Given the description of an element on the screen output the (x, y) to click on. 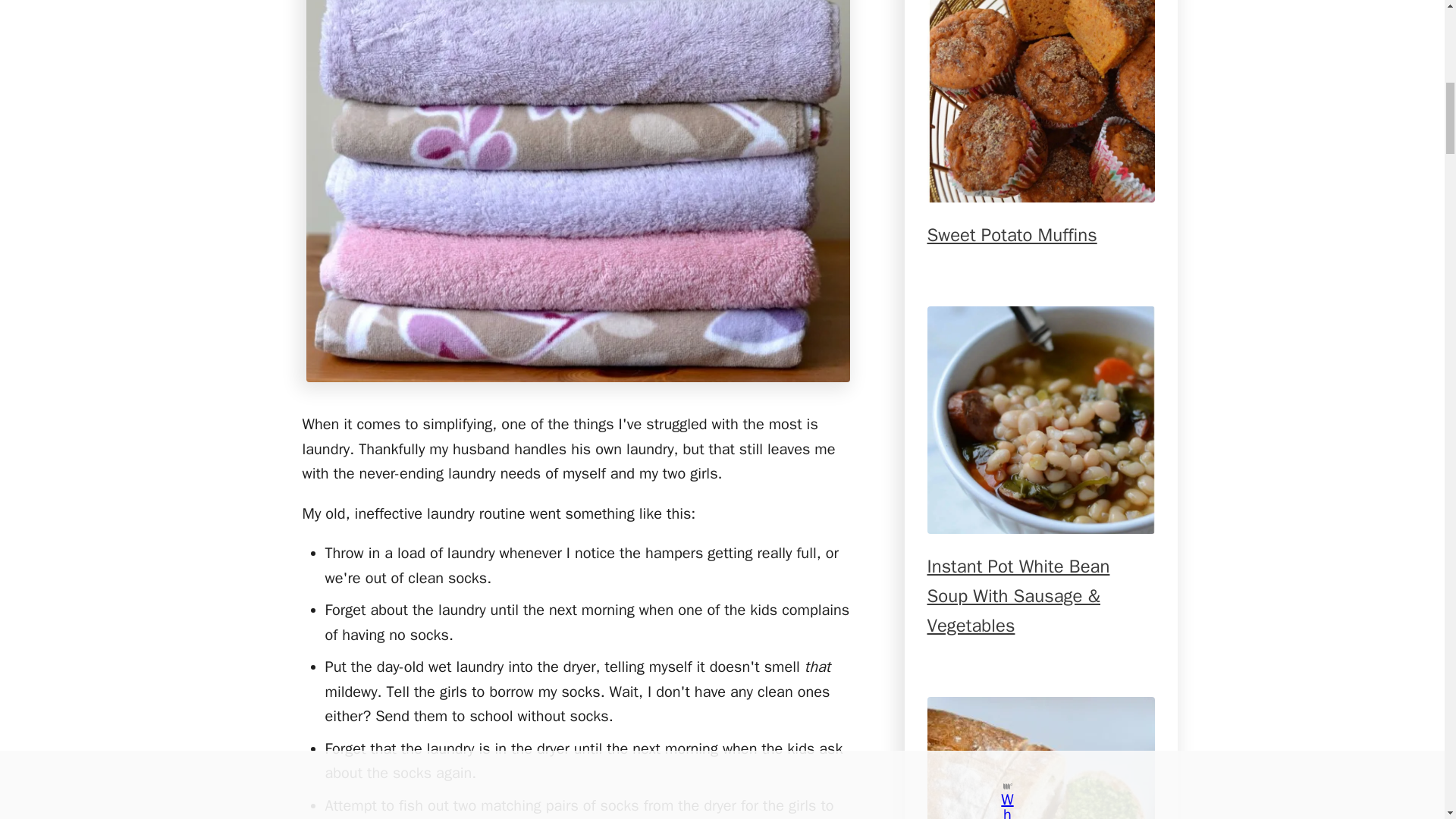
Sweet Potato Muffins (1011, 244)
Sweet Potato Muffins (1040, 101)
Simple Vegan Pesto (1040, 757)
